Given the description of an element on the screen output the (x, y) to click on. 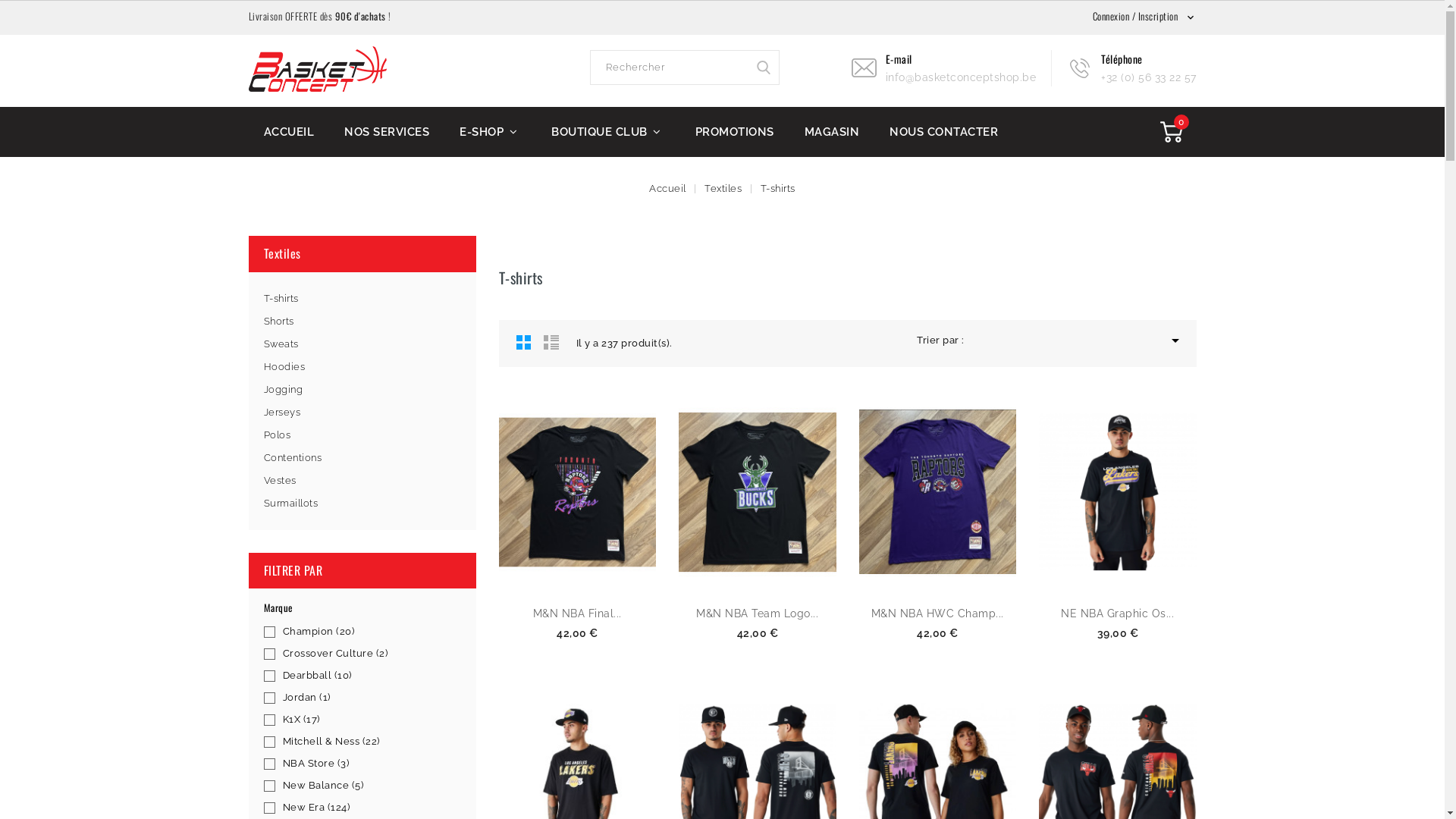
Jerseys Element type: text (362, 412)
Jogging Element type: text (362, 389)
Grille Element type: text (522, 341)
E-SHOP Element type: text (490, 131)
Dearbball (10) Element type: text (369, 675)
Surmaillots Element type: text (362, 503)
Sweats Element type: text (362, 344)
BOUTIQUE CLUB Element type: text (608, 131)
0 Element type: text (1171, 131)
NE NBA Graphic Os... Element type: text (1116, 613)
Accueil Element type: text (668, 188)
Liste Element type: text (550, 341)
M&N NBA Final... Element type: text (577, 613)
ACCUEIL Element type: text (288, 131)
Polos Element type: text (362, 435)
T-shirts Element type: text (777, 188)
Jordan (1) Element type: text (369, 697)
M&N NBA HWC Champ... Element type: text (937, 613)
New Era (124) Element type: text (369, 807)
Champion (20) Element type: text (369, 631)
Textiles Element type: text (724, 188)
PROMOTIONS Element type: text (733, 131)
Hoodies Element type: text (362, 366)
Mitchell & Ness (22) Element type: text (369, 741)
Crossover Culture (2) Element type: text (369, 653)
NOUS CONTACTER Element type: text (943, 131)
MAGASIN Element type: text (831, 131)
T-shirts Element type: text (362, 298)
Shorts Element type: text (362, 321)
NBA Store (3) Element type: text (369, 763)
Contentions Element type: text (362, 457)
M&N NBA Team Logo... Element type: text (757, 613)
K1X (17) Element type: text (369, 719)
Textiles Element type: text (282, 253)
NOS SERVICES Element type: text (386, 131)
New Balance (5) Element type: text (369, 785)
Vestes Element type: text (362, 480)
